Given the description of an element on the screen output the (x, y) to click on. 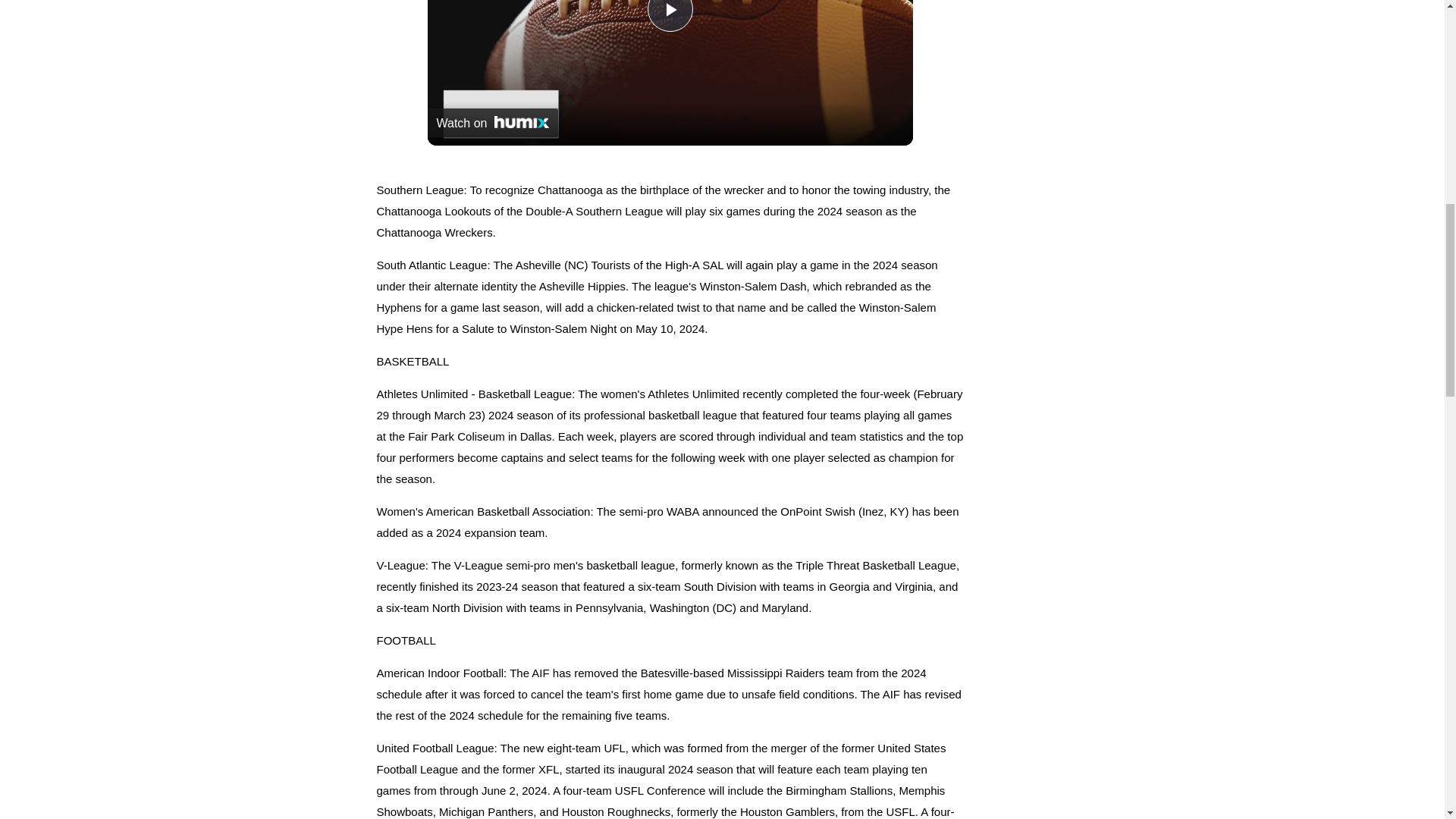
Play Video (670, 15)
Play Video (670, 15)
